Given the description of an element on the screen output the (x, y) to click on. 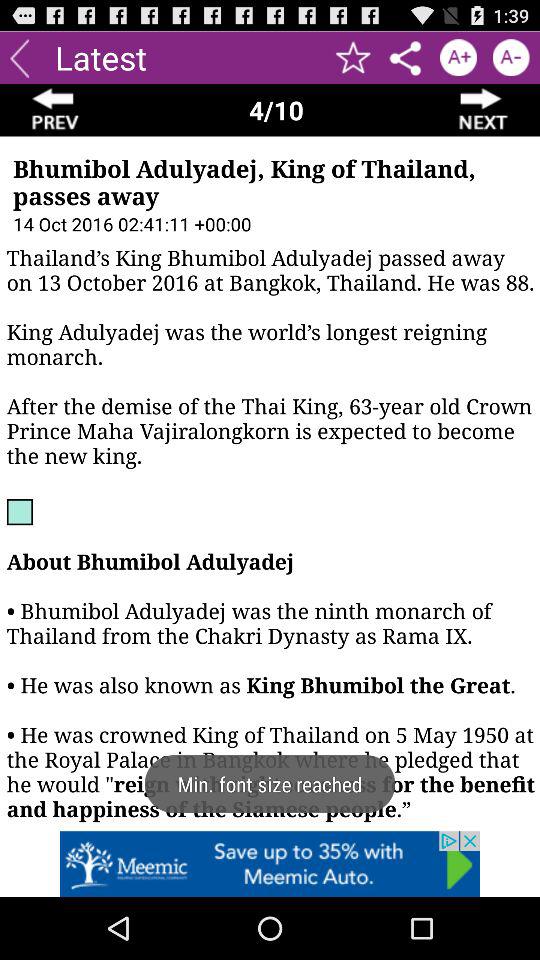
latest star option (353, 57)
